Given the description of an element on the screen output the (x, y) to click on. 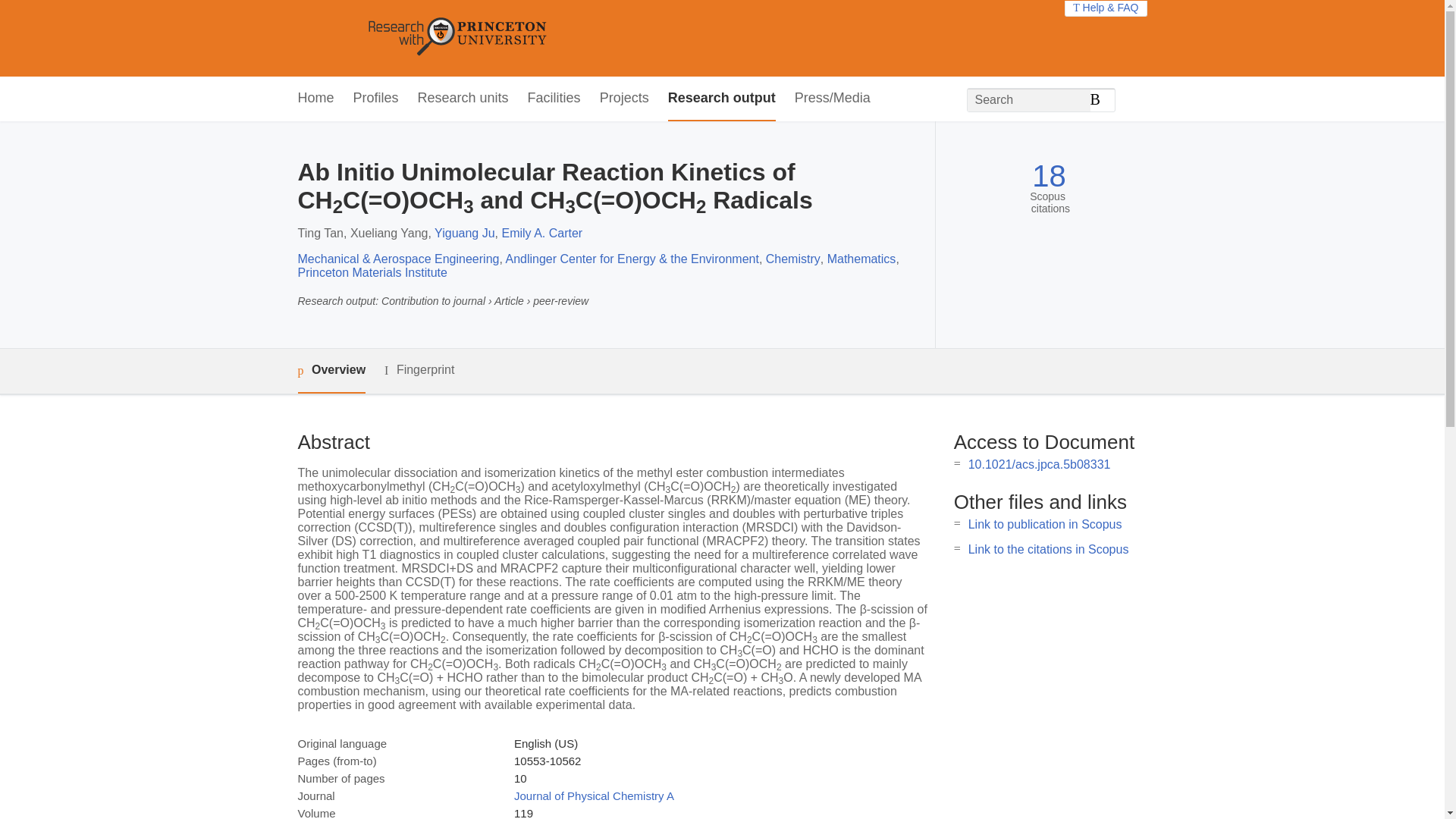
18 (1048, 175)
Fingerprint (419, 370)
Mathematics (861, 258)
Projects (624, 98)
Profiles (375, 98)
Link to publication in Scopus (1045, 523)
Link to the citations in Scopus (1048, 549)
Yiguang Ju (464, 232)
Overview (331, 370)
Research output (722, 98)
Princeton University Home (567, 38)
Emily A. Carter (541, 232)
Research units (462, 98)
Journal of Physical Chemistry A (593, 795)
